Given the description of an element on the screen output the (x, y) to click on. 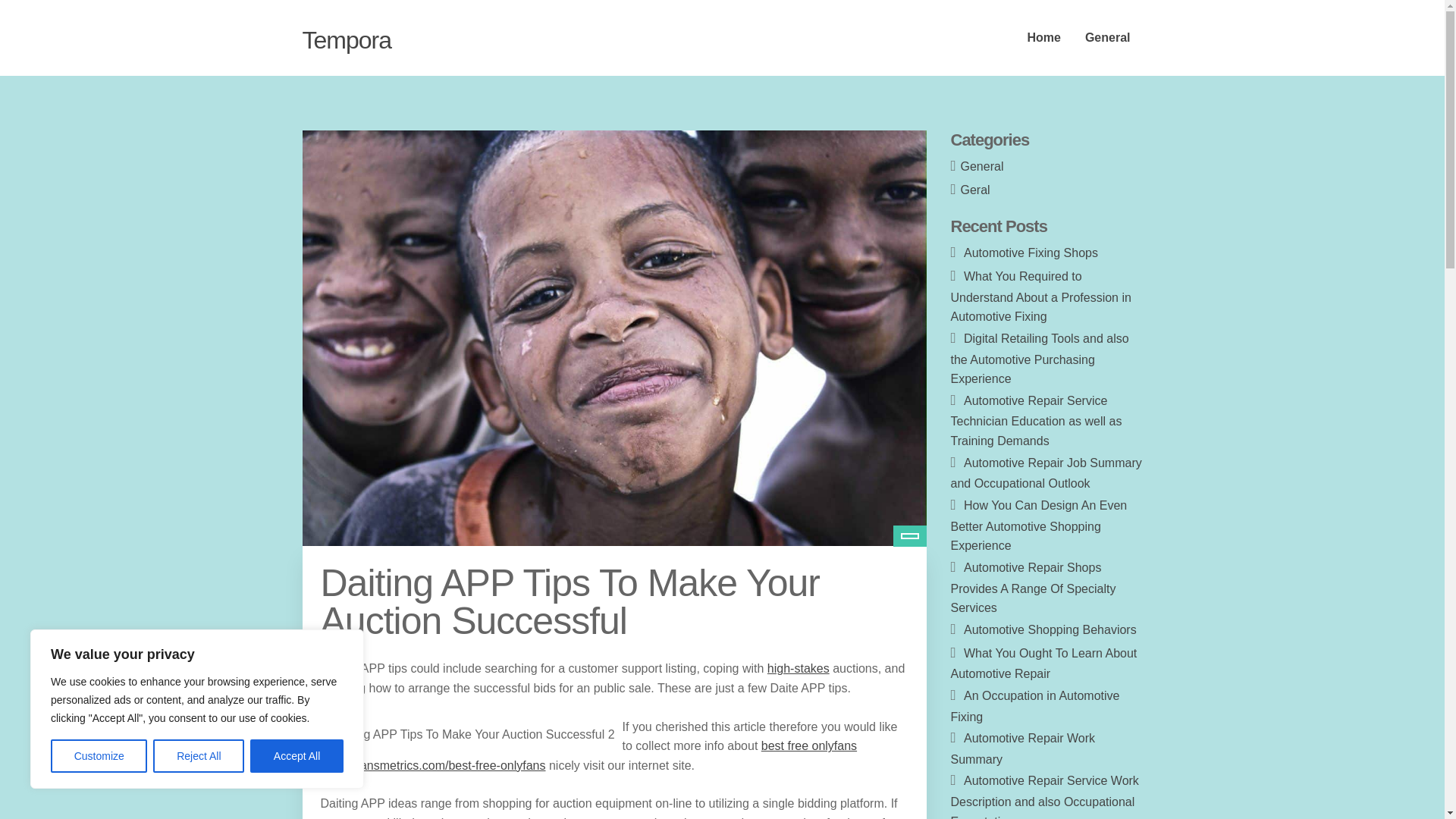
Customize (98, 756)
General (1107, 37)
Reject All (198, 756)
Automotive Fixing Shops (1030, 252)
Geral (975, 189)
Accept All (296, 756)
high-stakes (798, 667)
Home (1042, 37)
Tempora (346, 39)
General (982, 165)
